Given the description of an element on the screen output the (x, y) to click on. 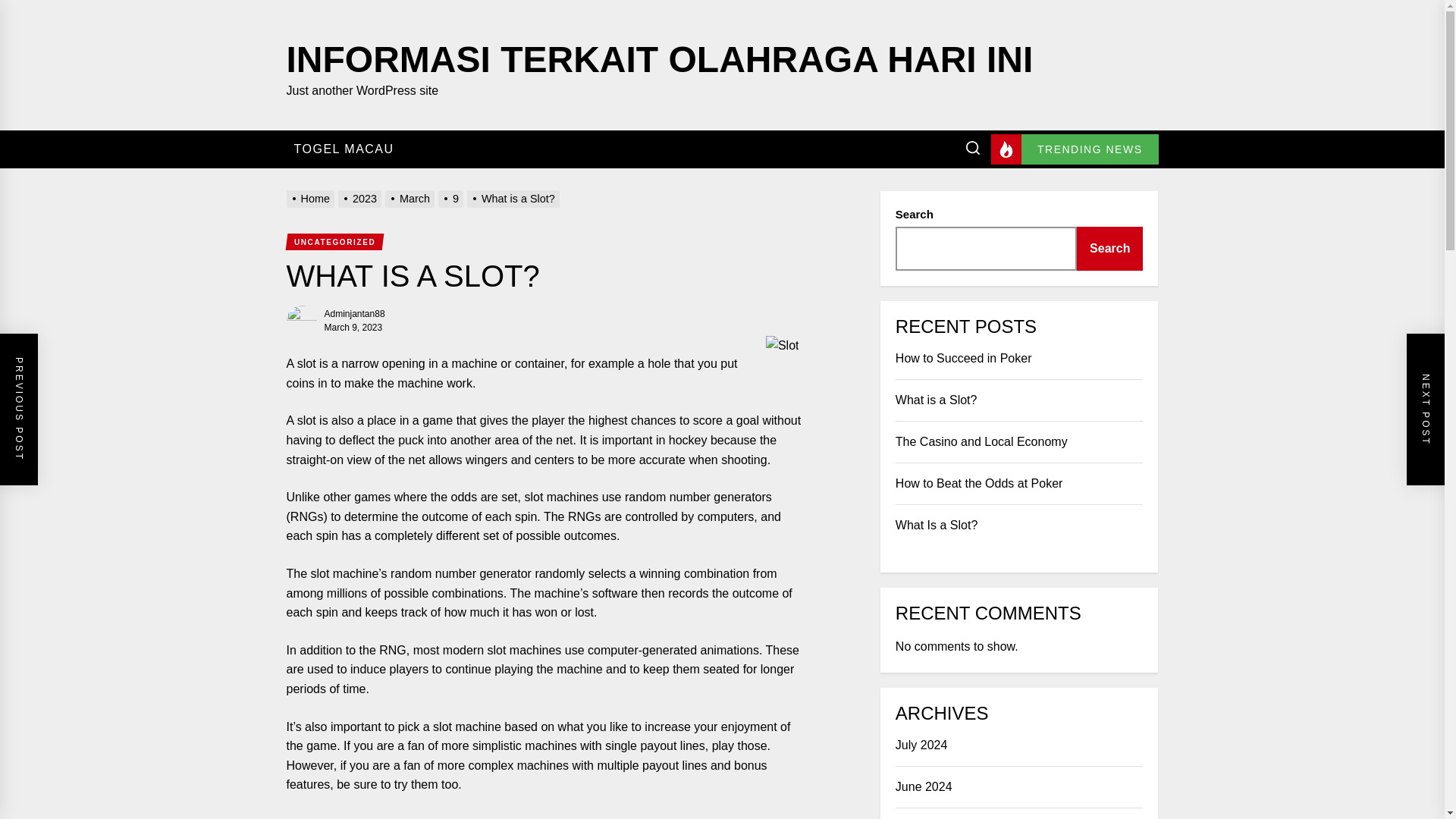
2023 (361, 198)
TRENDING NEWS (1074, 149)
Home (311, 198)
March (411, 198)
UNCATEGORIZED (333, 241)
INFORMASI TERKAIT OLAHRAGA HARI INI (659, 55)
Adminjantan88 (354, 313)
March 9, 2023 (353, 327)
TOGEL MACAU (344, 149)
What is a Slot? (515, 198)
9 (452, 198)
